Given the description of an element on the screen output the (x, y) to click on. 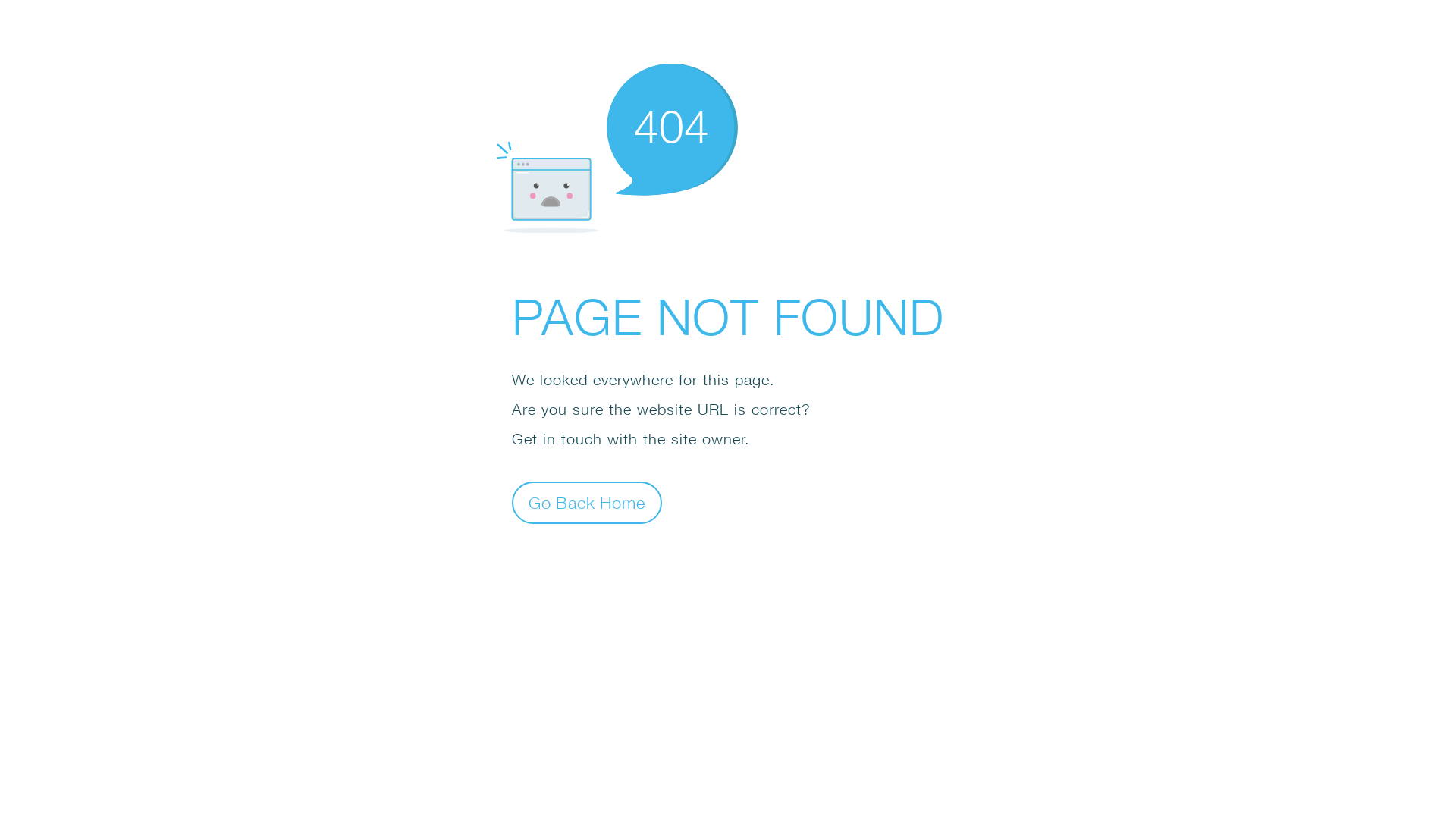
Go Back Home Element type: text (586, 502)
